Given the description of an element on the screen output the (x, y) to click on. 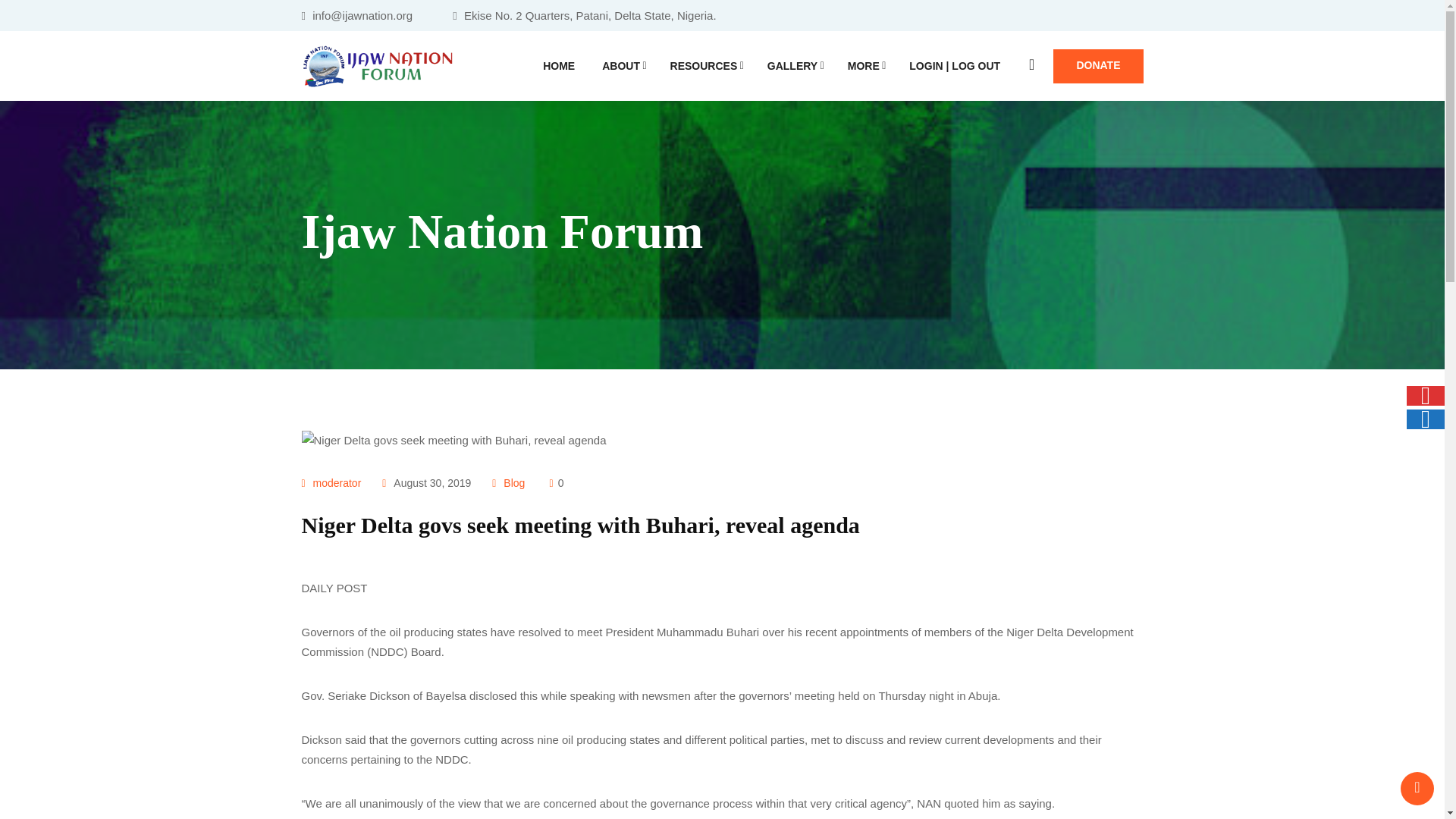
Blog (513, 482)
DONATE (1097, 65)
moderator (337, 482)
GALLERY (794, 65)
RESOURCES (704, 65)
